Given the description of an element on the screen output the (x, y) to click on. 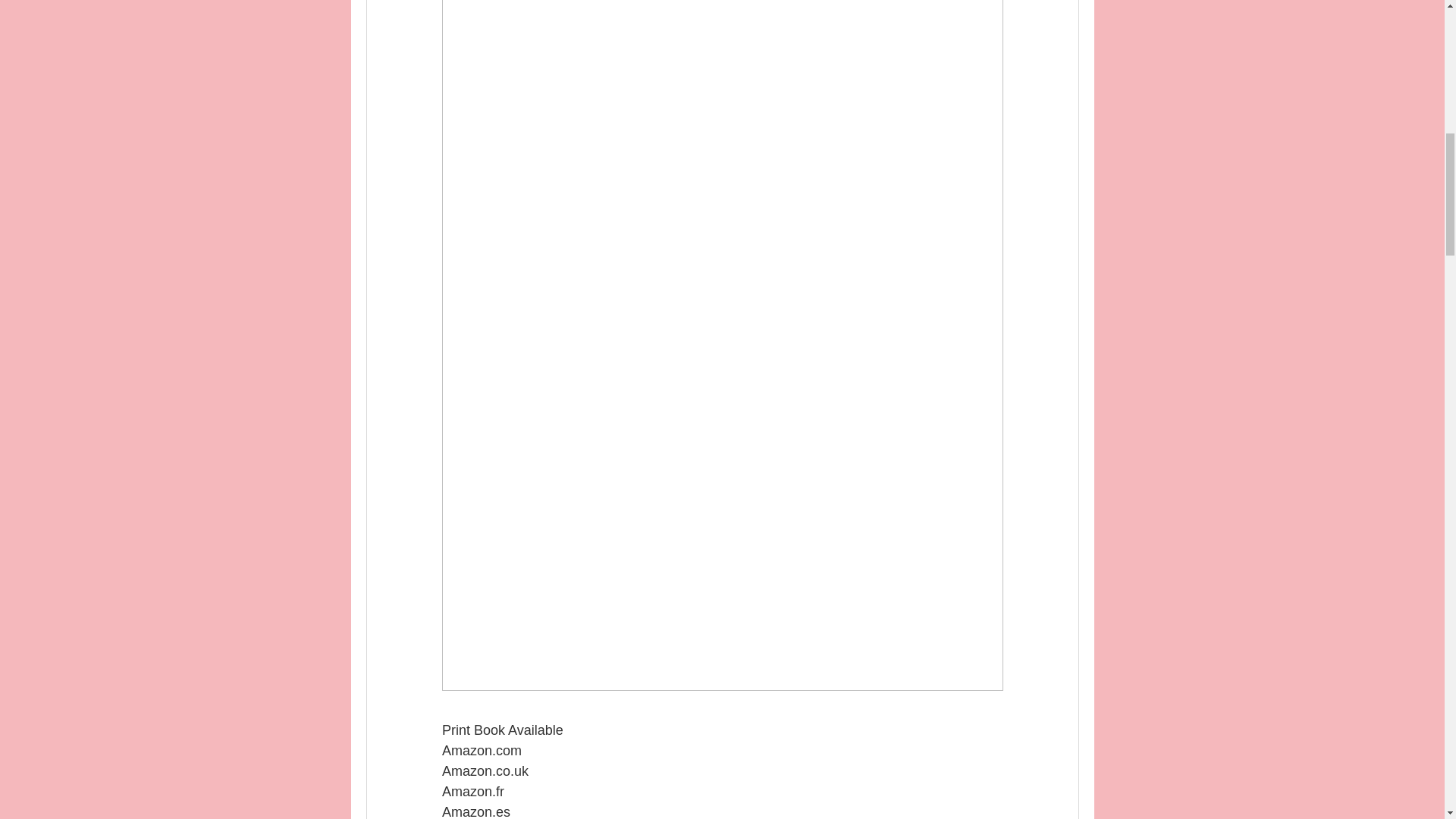
Amazon.fr (472, 791)
Amazon.com (481, 750)
Amazon.co.uk (484, 770)
Amazon.es (475, 811)
